Given the description of an element on the screen output the (x, y) to click on. 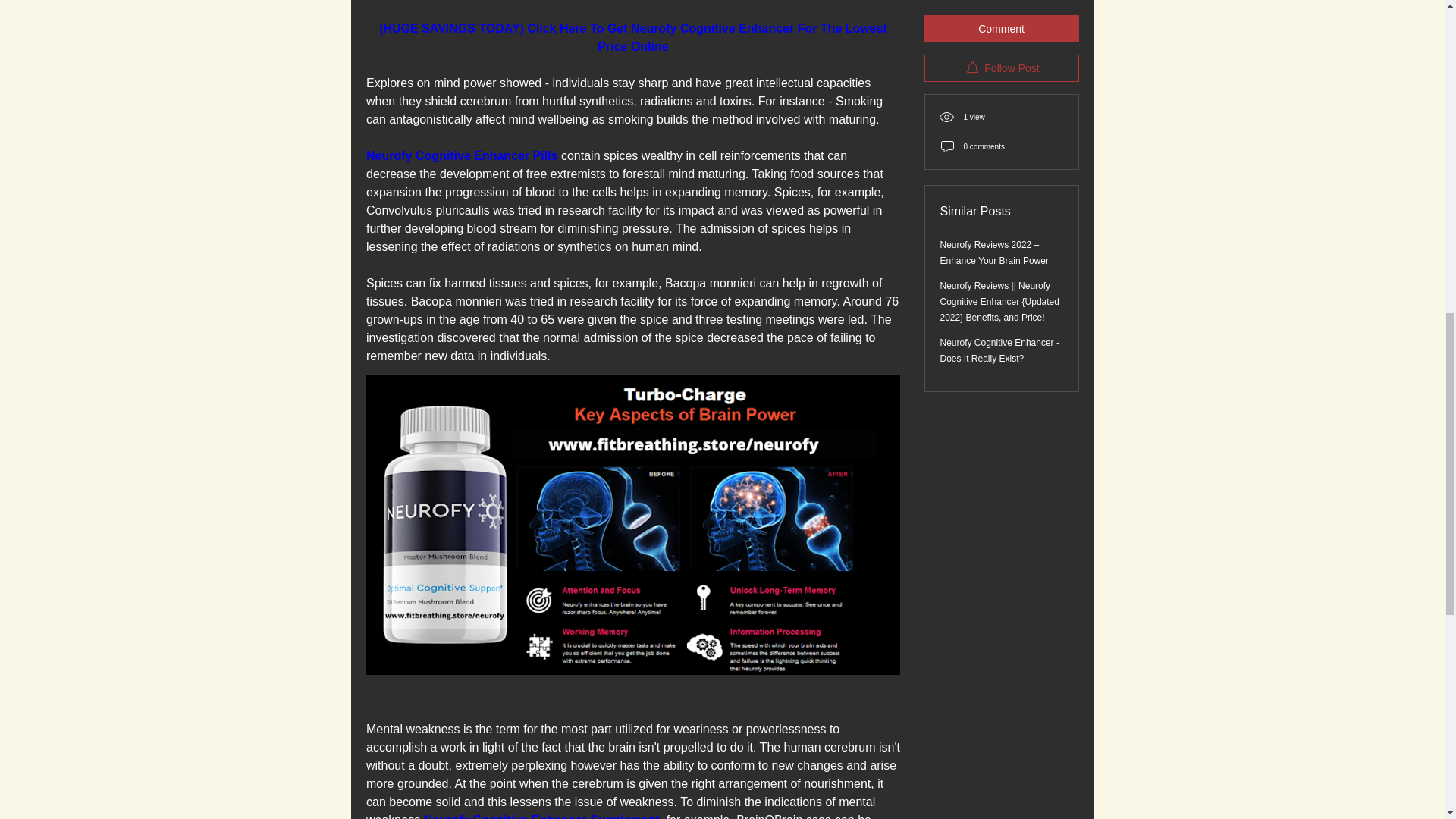
Neurofy Cognitive Enhancer Supplement (541, 816)
Neurofy Cognitive Enhancer Pills (461, 155)
